Given the description of an element on the screen output the (x, y) to click on. 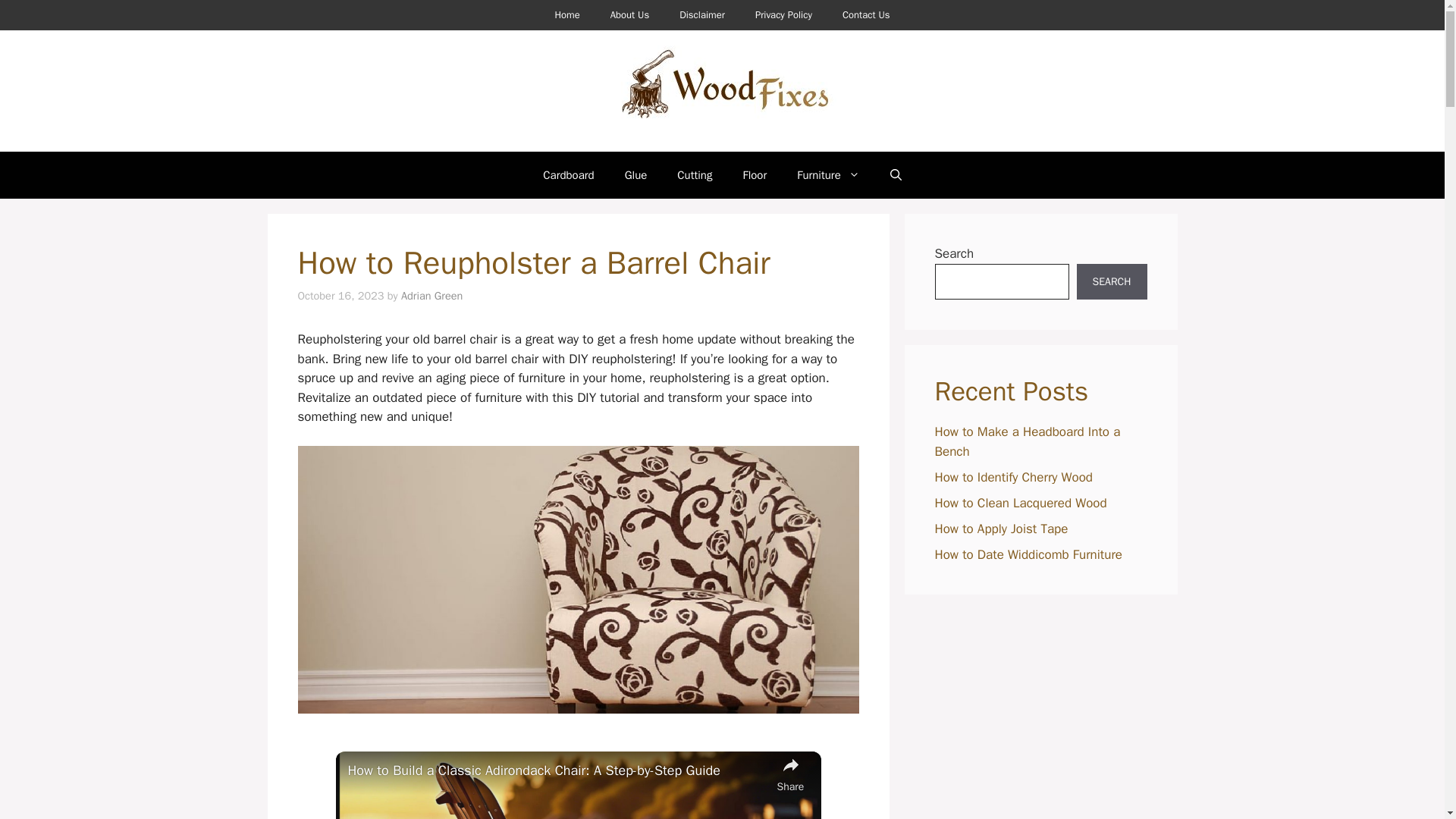
Privacy Policy (783, 15)
View all posts by Adrian Green (432, 295)
Contact Us (866, 15)
Cardboard (567, 175)
Home (566, 15)
Floor (753, 175)
About Us (629, 15)
Glue (636, 175)
Furniture (828, 175)
Disclaimer (701, 15)
Cutting (694, 175)
Adrian Green (432, 295)
